Given the description of an element on the screen output the (x, y) to click on. 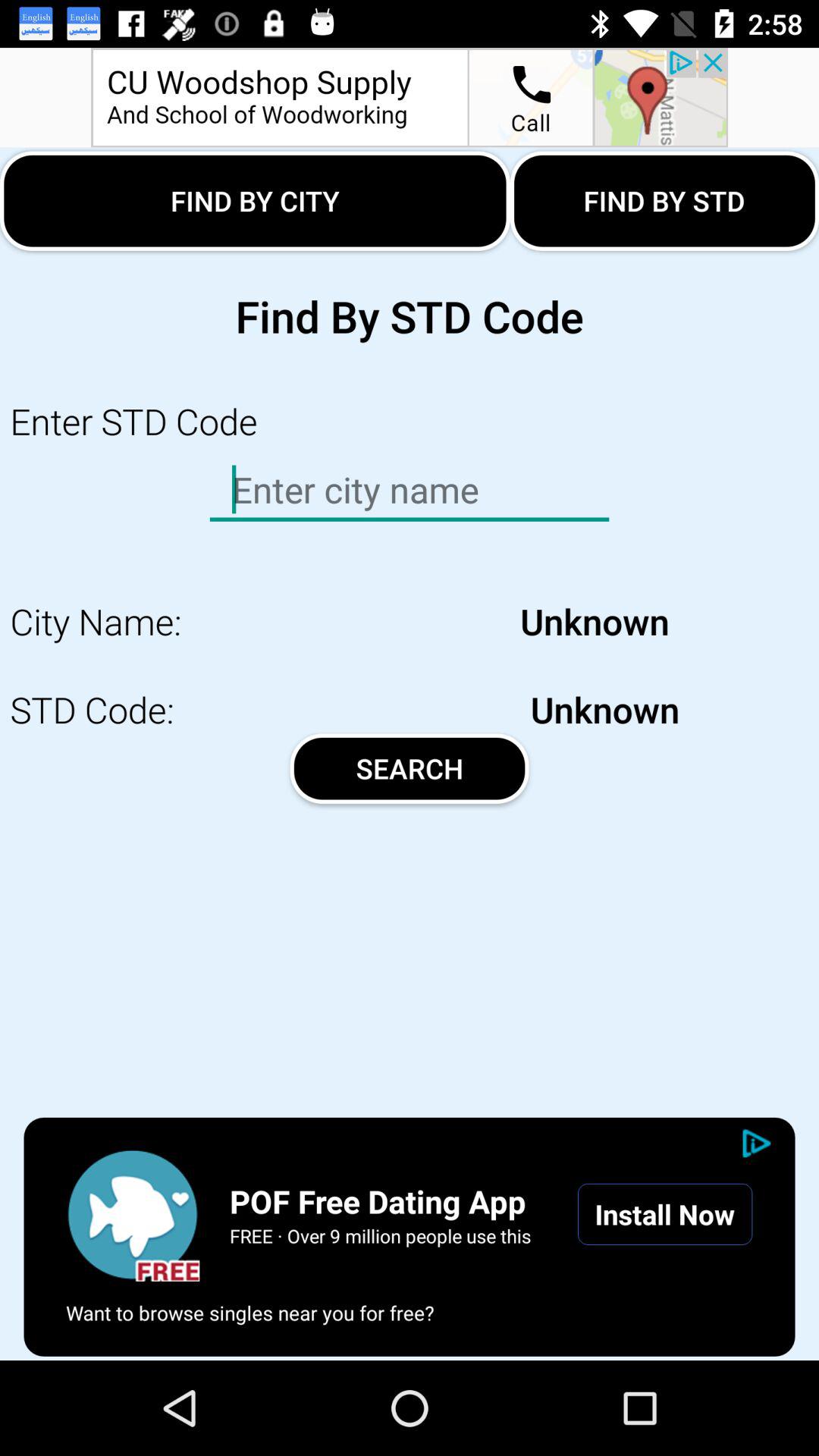
open cu woodshop supply advertisement (409, 97)
